Given the description of an element on the screen output the (x, y) to click on. 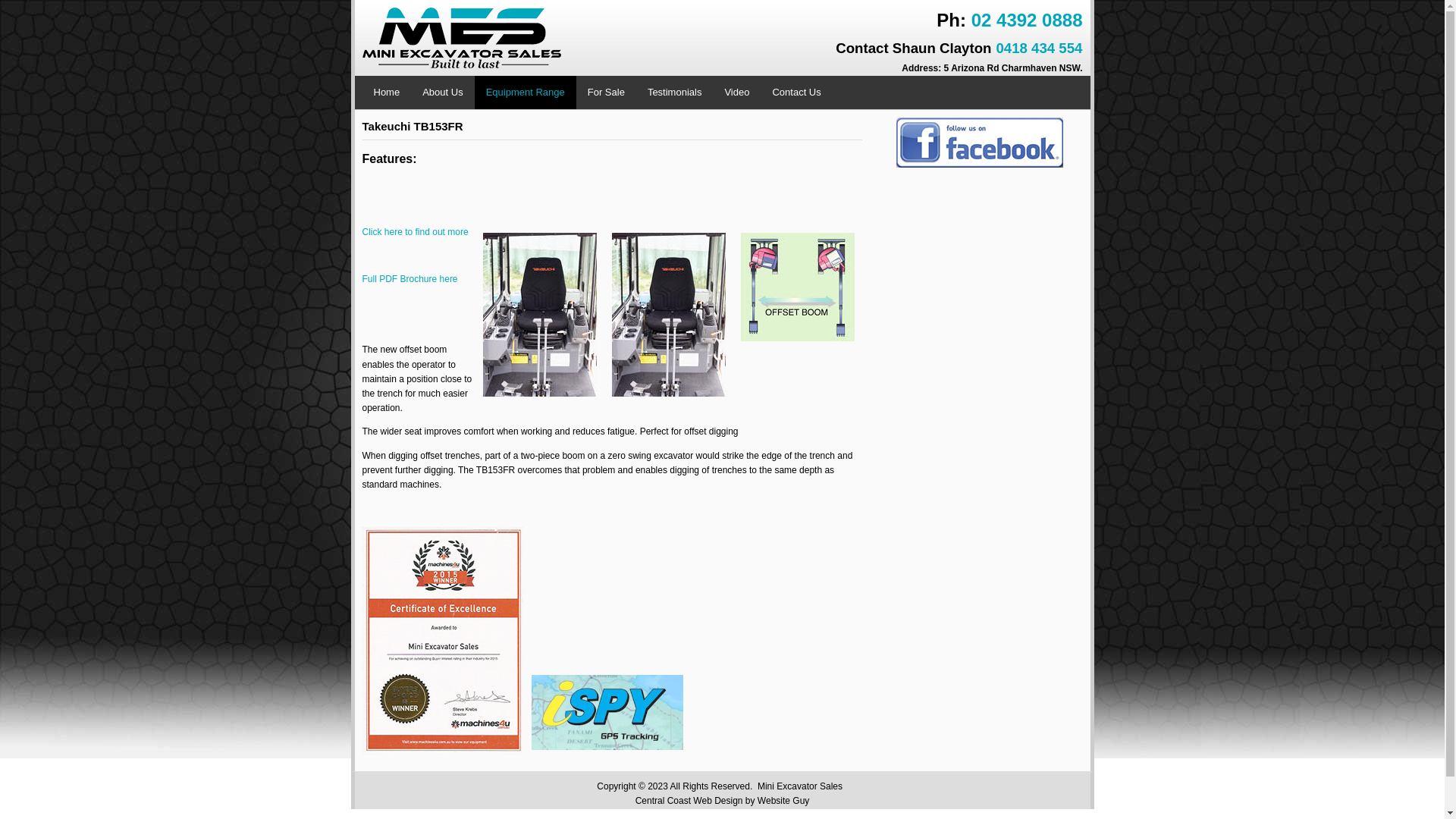
Full PDF Brochure here Element type: text (410, 278)
Home Element type: text (386, 92)
About Us Element type: text (442, 92)
For Sale Element type: text (606, 92)
Click here to find out more Element type: text (415, 231)
Testimonials Element type: text (674, 92)
Video Element type: text (736, 92)
Equipment Range Element type: text (525, 92)
Contact Us Element type: text (795, 92)
